Given the description of an element on the screen output the (x, y) to click on. 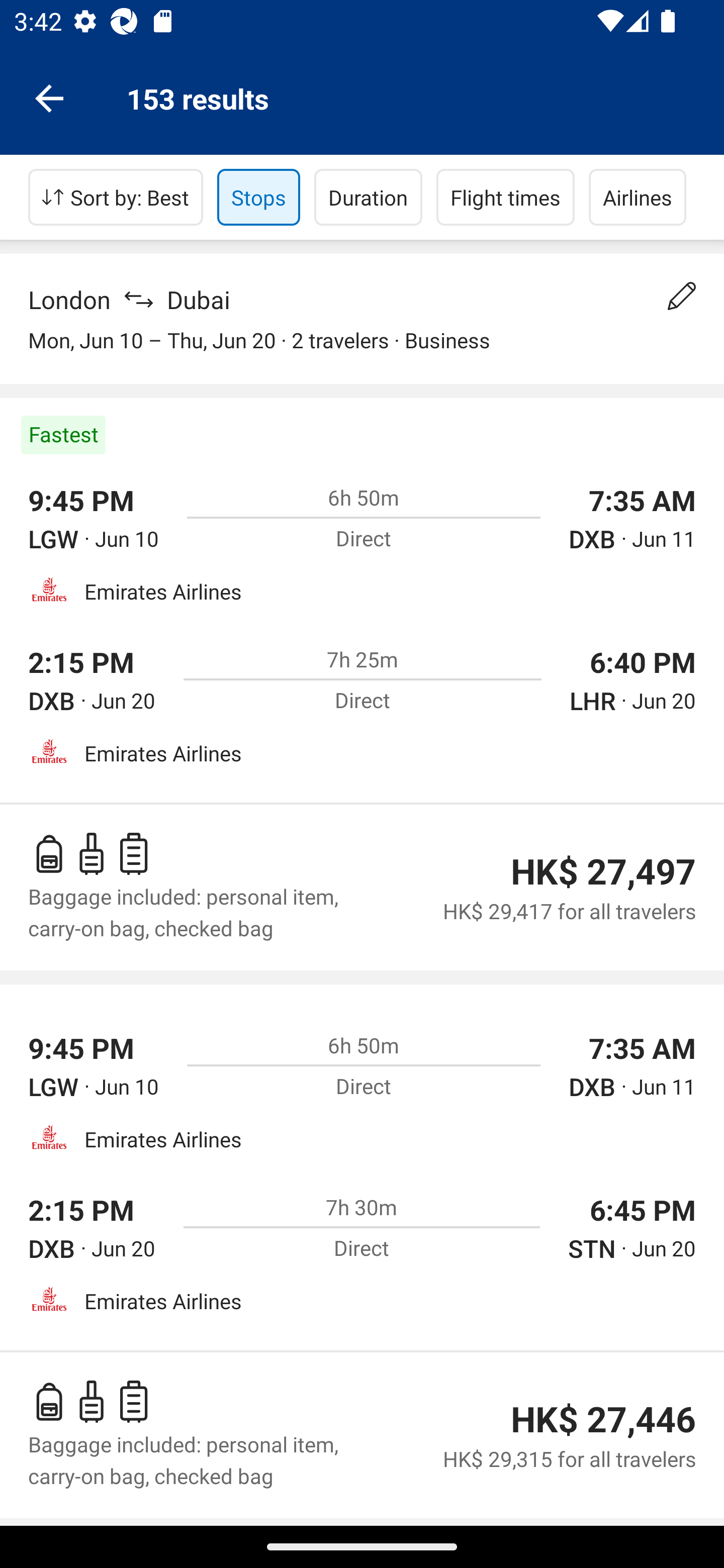
Navigate up (49, 97)
Sort by: Best (115, 197)
Stops (258, 197)
Duration (368, 197)
Flight times (505, 197)
Airlines (637, 197)
Change your search details (681, 296)
HK$ 27,497 (603, 871)
HK$ 27,446 (603, 1419)
